Given the description of an element on the screen output the (x, y) to click on. 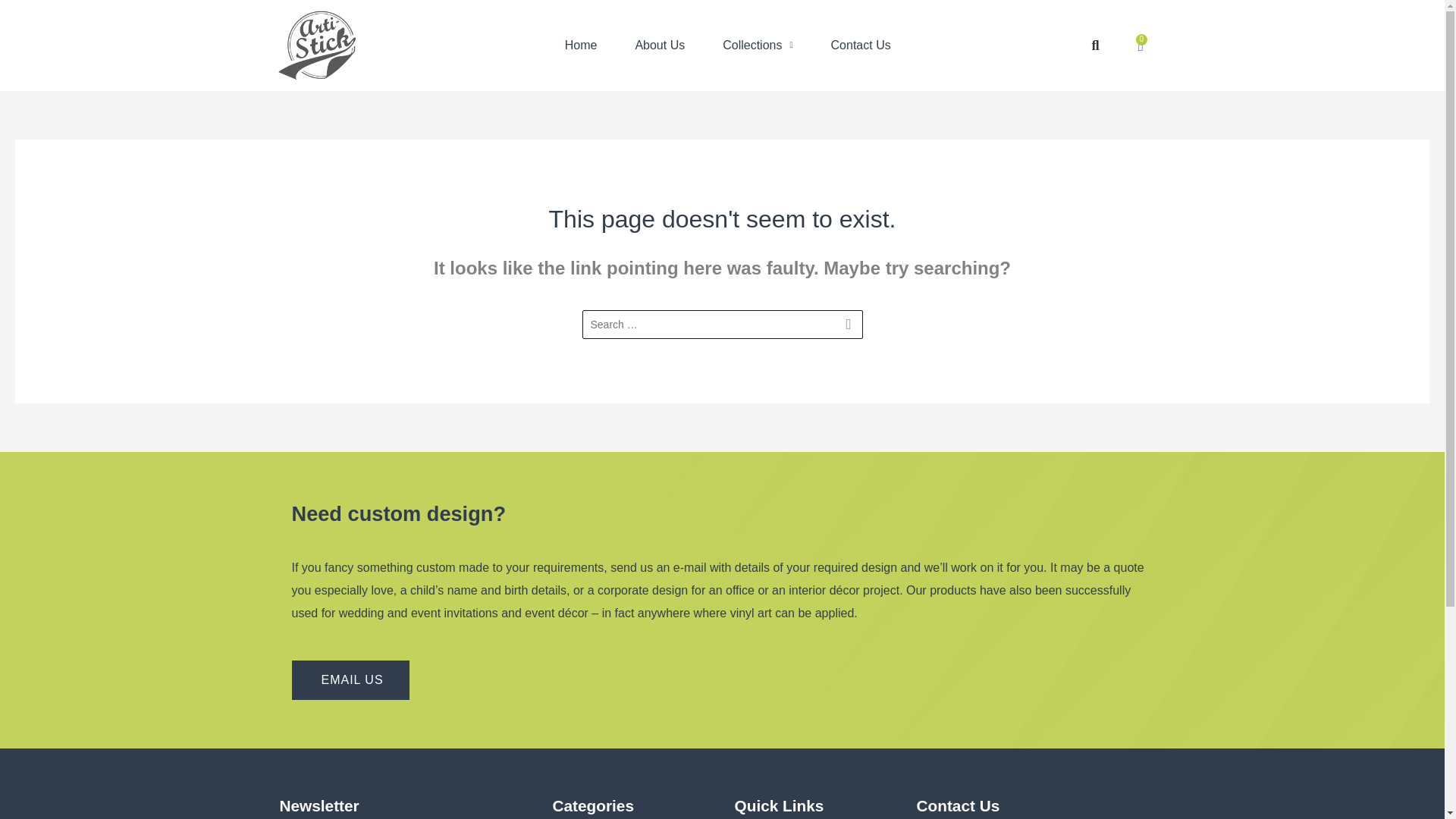
Contact Us (861, 45)
About Us (659, 45)
Collections (757, 45)
EMAIL US (350, 680)
